Given the description of an element on the screen output the (x, y) to click on. 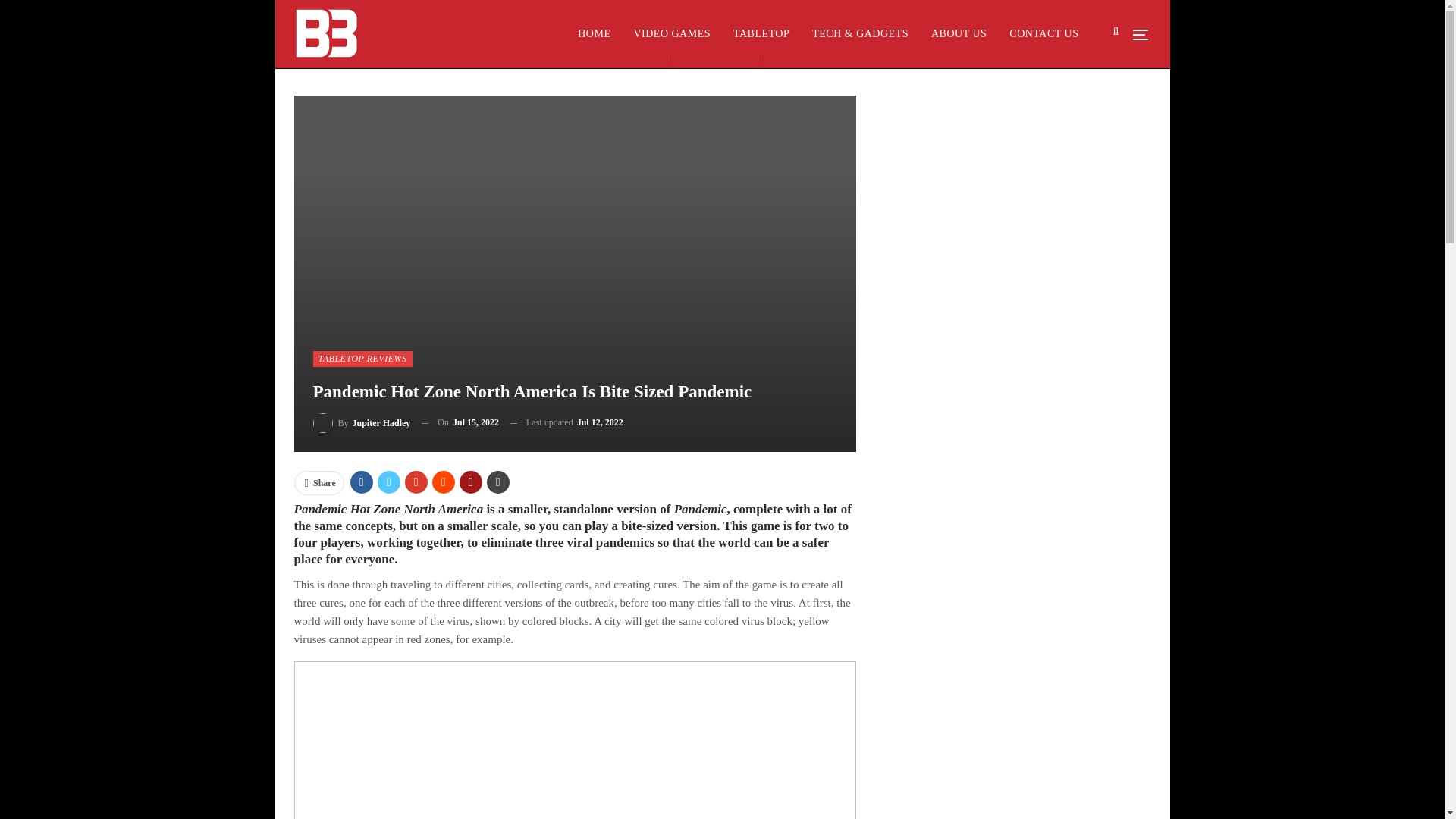
TABLETOP (761, 33)
By Jupiter Hadley (361, 422)
Browse Author Articles (361, 422)
TABLETOP REVIEWS (362, 358)
VIDEO GAMES (671, 33)
CONTACT US (1043, 33)
ABOUT US (958, 33)
